Given the description of an element on the screen output the (x, y) to click on. 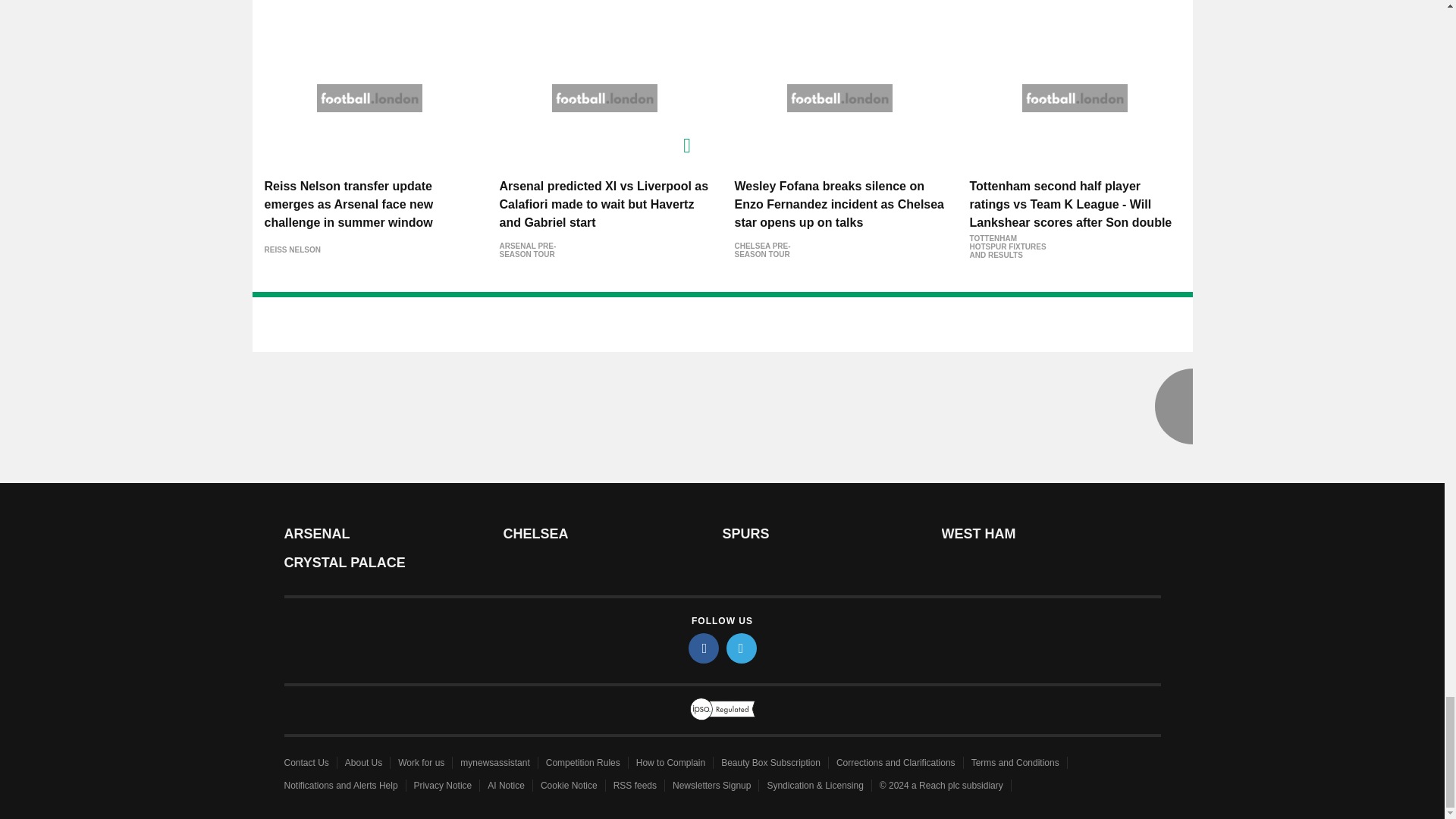
twitter (741, 648)
facebook (703, 648)
